Given the description of an element on the screen output the (x, y) to click on. 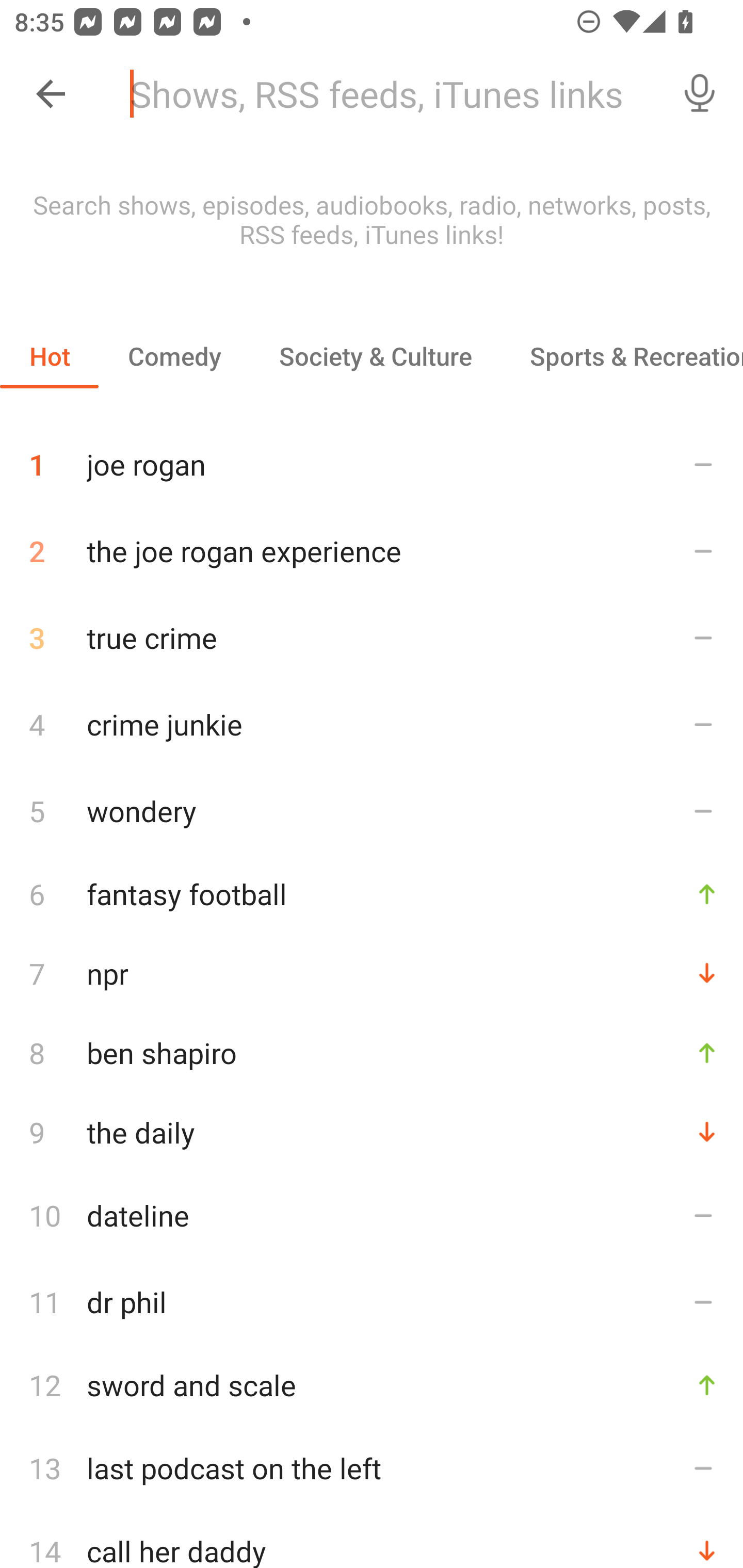
Collapse (50, 93)
Voice Search (699, 93)
Shows, RSS feeds, iTunes links (385, 94)
Hot (49, 355)
Comedy (173, 355)
Society & Culture (374, 355)
Sports & Recreation (621, 355)
1 joe rogan (371, 457)
2 the joe rogan experience (371, 551)
3 true crime (371, 637)
4 crime junkie (371, 723)
5 wondery (371, 810)
6 fantasy football (371, 893)
7 npr (371, 972)
8 ben shapiro (371, 1052)
9 the daily (371, 1131)
10 dateline (371, 1215)
11 dr phil (371, 1302)
12 sword and scale (371, 1385)
13 last podcast on the left (371, 1468)
14 call her daddy (371, 1539)
